Given the description of an element on the screen output the (x, y) to click on. 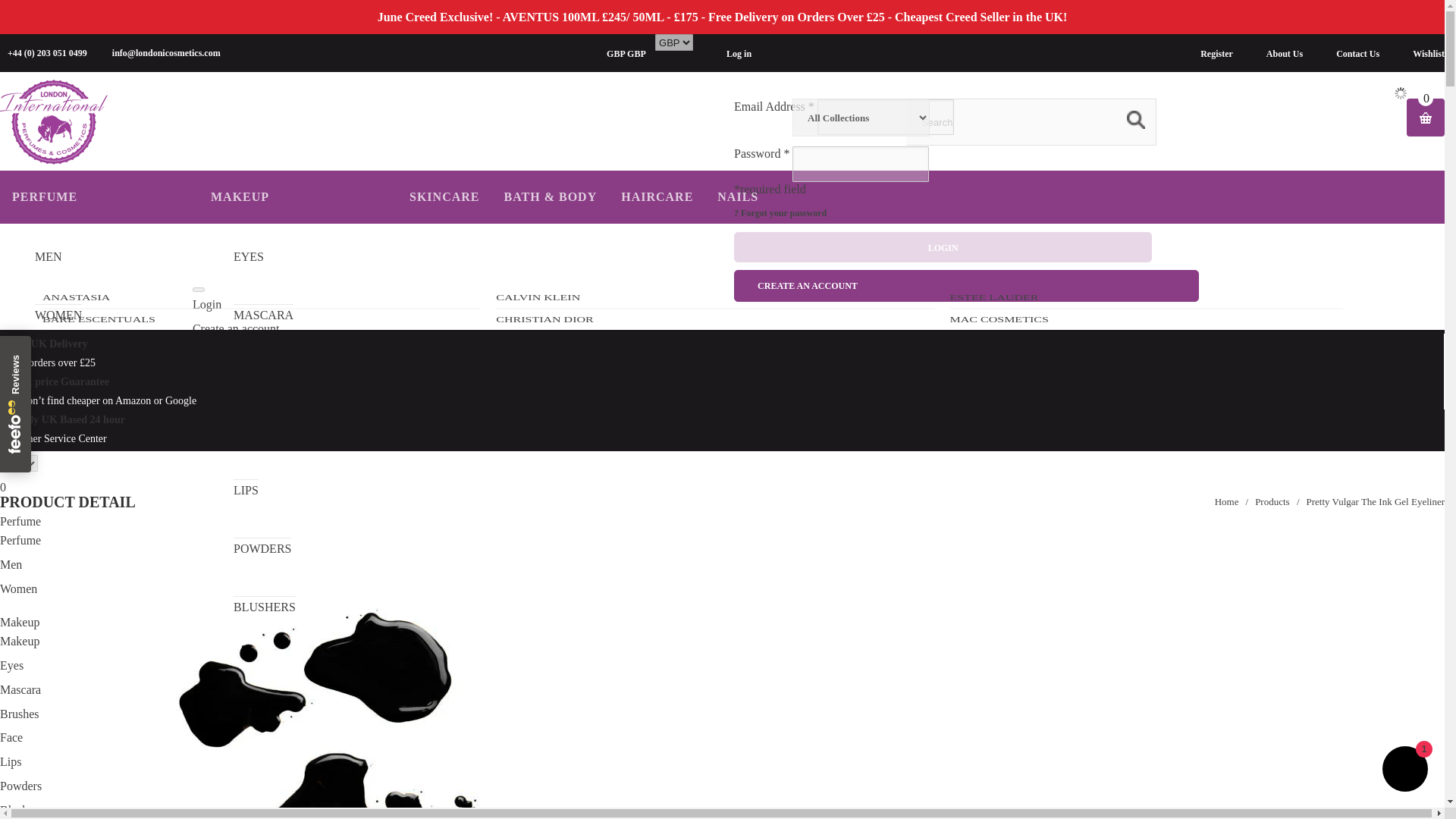
PERFUME (46, 196)
0 (1425, 117)
EYES (247, 256)
Shopping Cart (722, 487)
About Us (1281, 53)
CREATE AN ACCOUNT (965, 286)
POWDERS (261, 547)
LIPS (245, 489)
GBP GBP (631, 53)
Log in (738, 53)
All Products (1272, 501)
NAILS (737, 196)
MAKEUP (242, 196)
? Forgot your password (780, 213)
SKINCARE (444, 196)
